Given the description of an element on the screen output the (x, y) to click on. 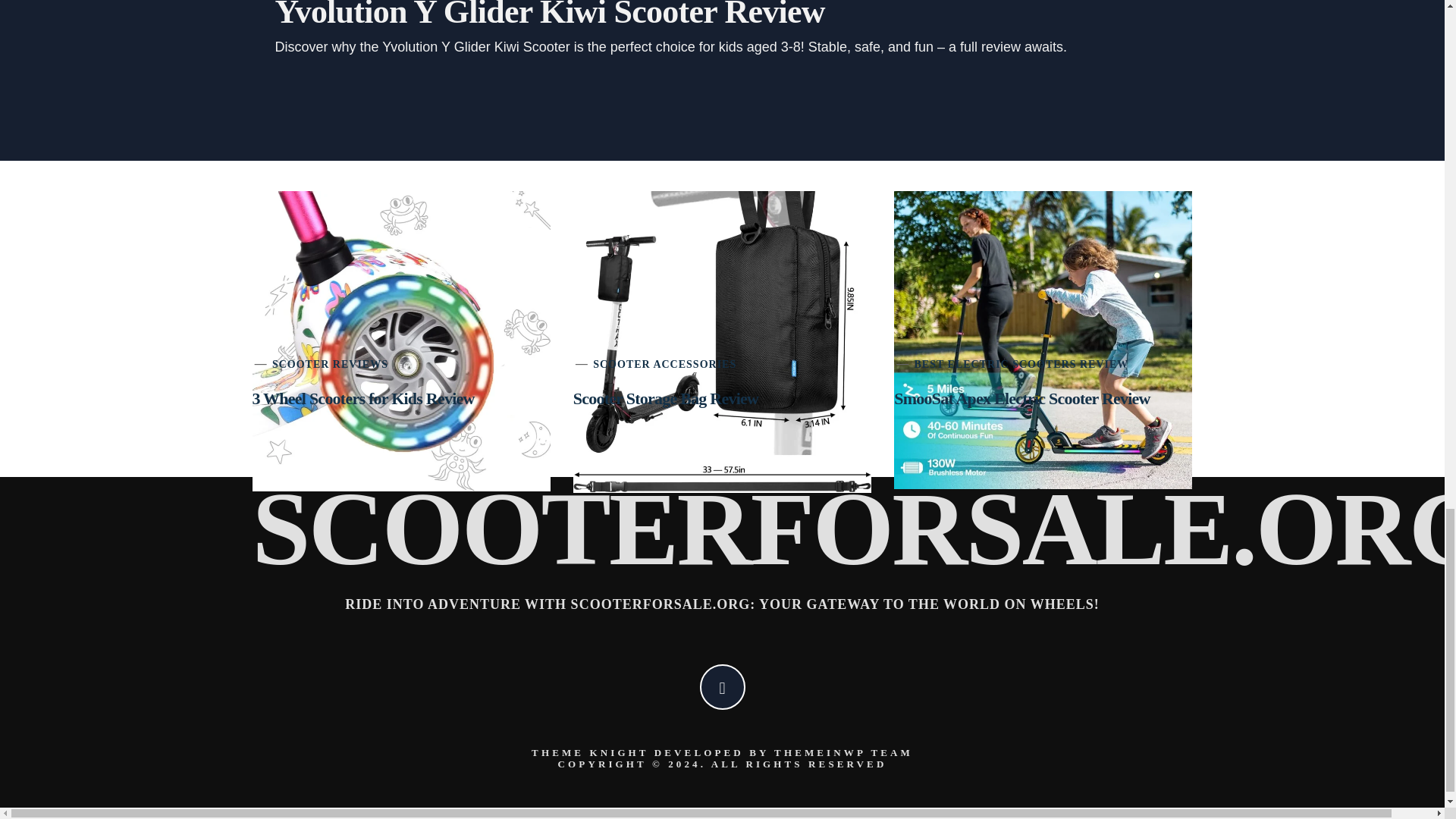
THEMEINWP TEAM (843, 752)
THEME KNIGHT (589, 752)
3 Wheel Scooters for Kids Review (362, 398)
SCOOTER REVIEWS (330, 364)
Yvolution Y Glider Kiwi Scooter Review (549, 15)
Scooter Storage Bag Review (665, 398)
SmooSat Apex Electric Scooter Review (1021, 398)
SCOOTER ACCESSORIES (664, 364)
BEST ELECTRIC SCOOTERS REVIEW (1021, 364)
